Given the description of an element on the screen output the (x, y) to click on. 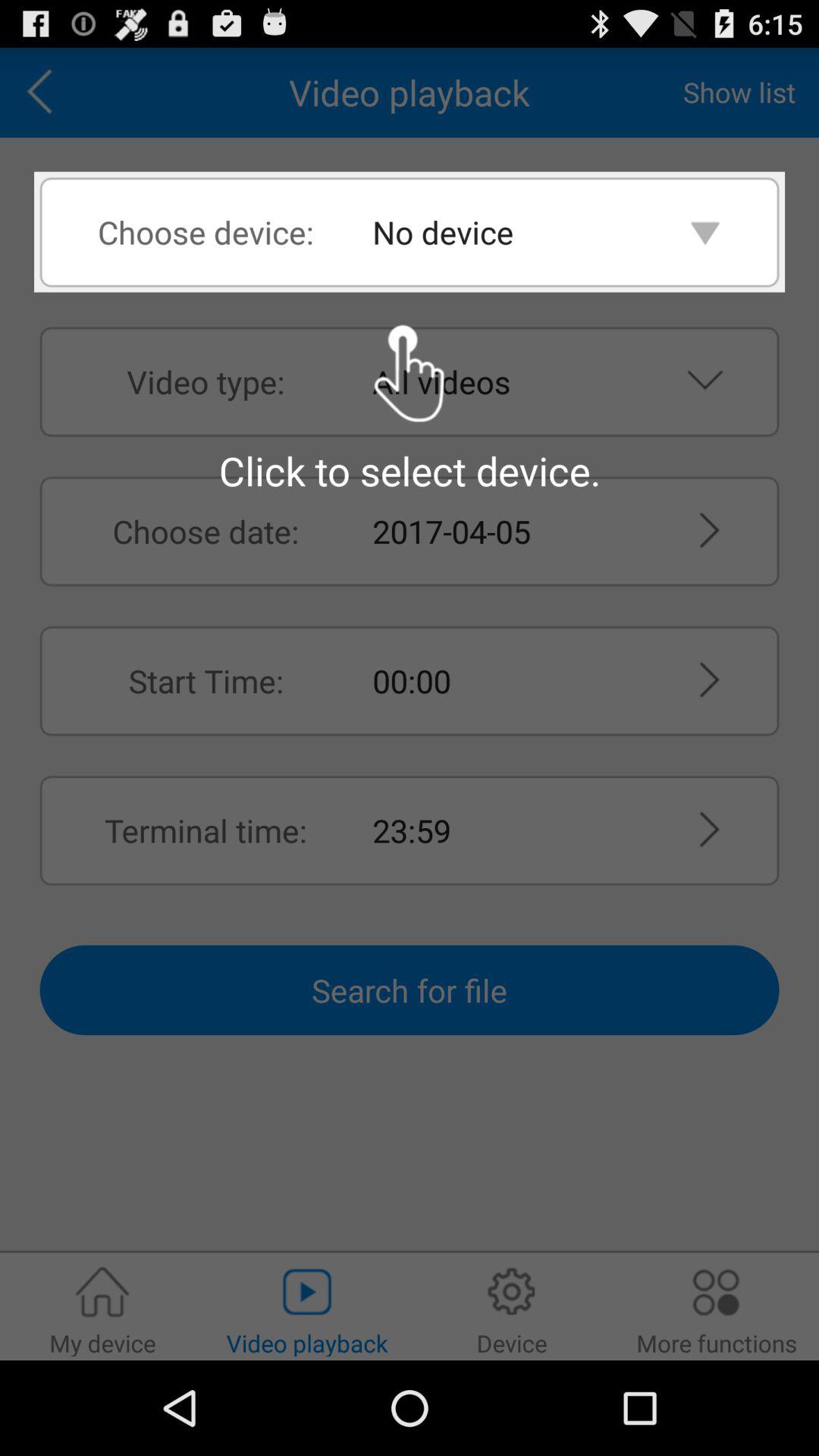
flip to show list (739, 92)
